Given the description of an element on the screen output the (x, y) to click on. 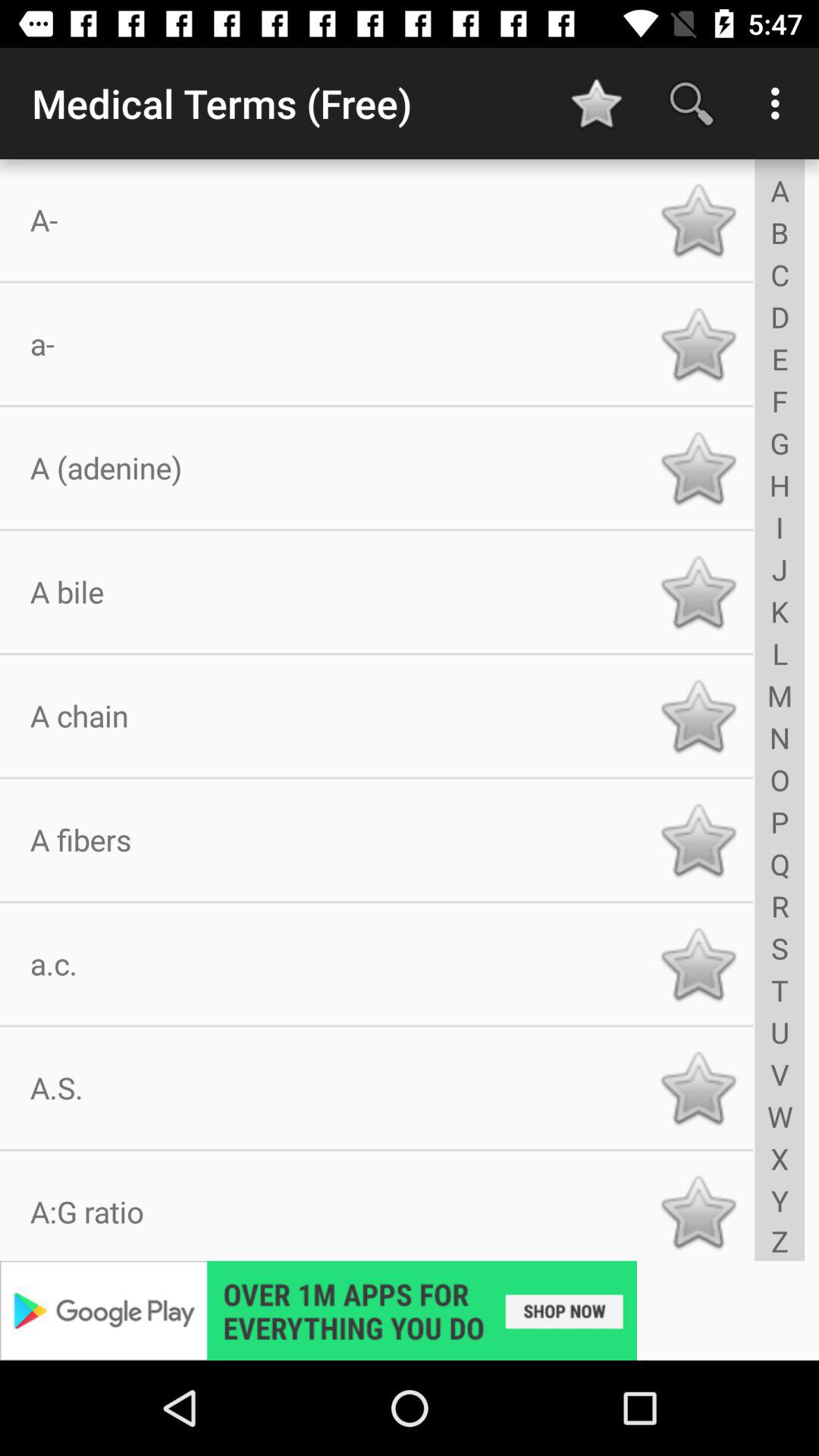
favourite option (697, 344)
